Given the description of an element on the screen output the (x, y) to click on. 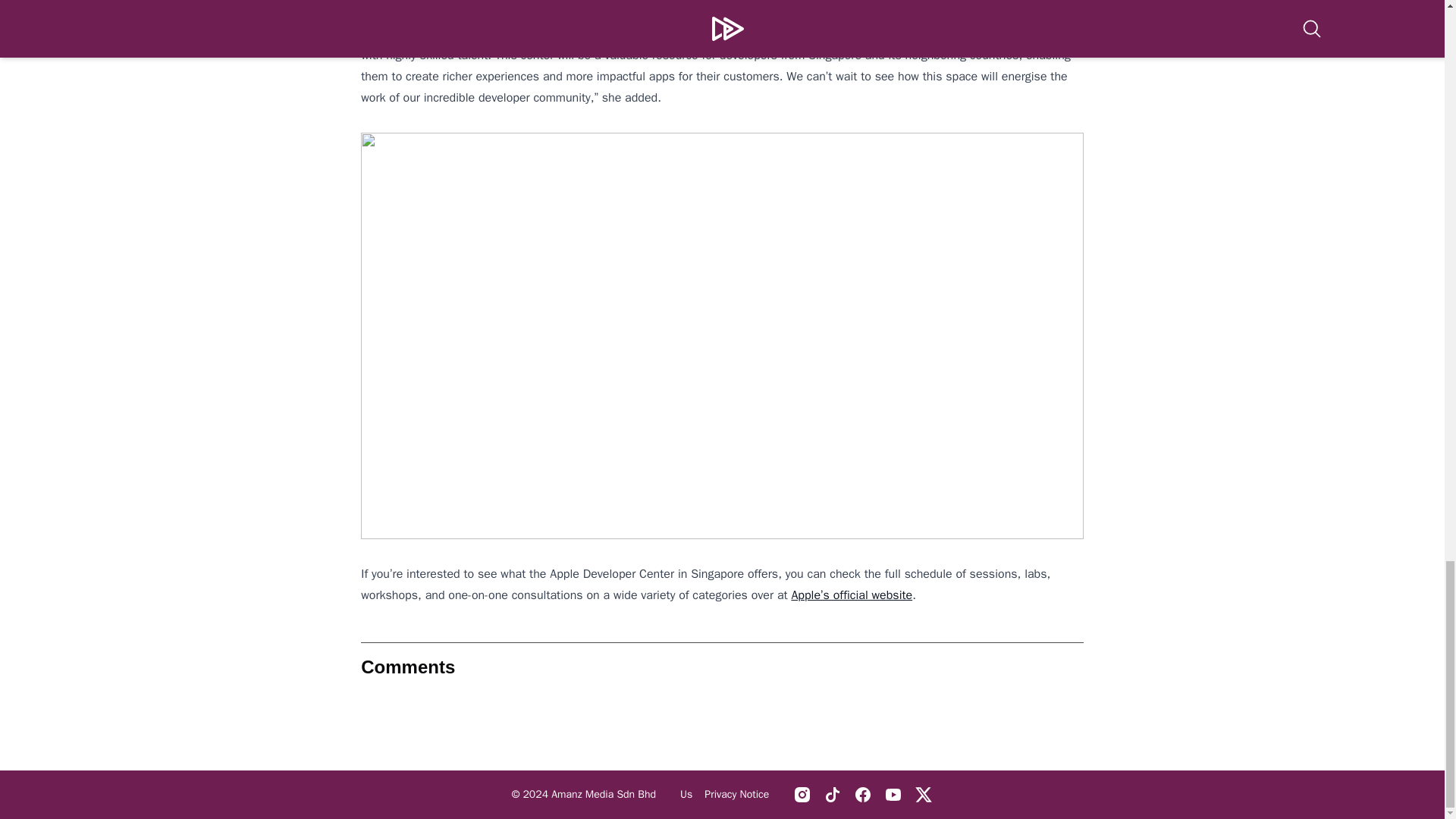
Privacy Notice (736, 794)
